Given the description of an element on the screen output the (x, y) to click on. 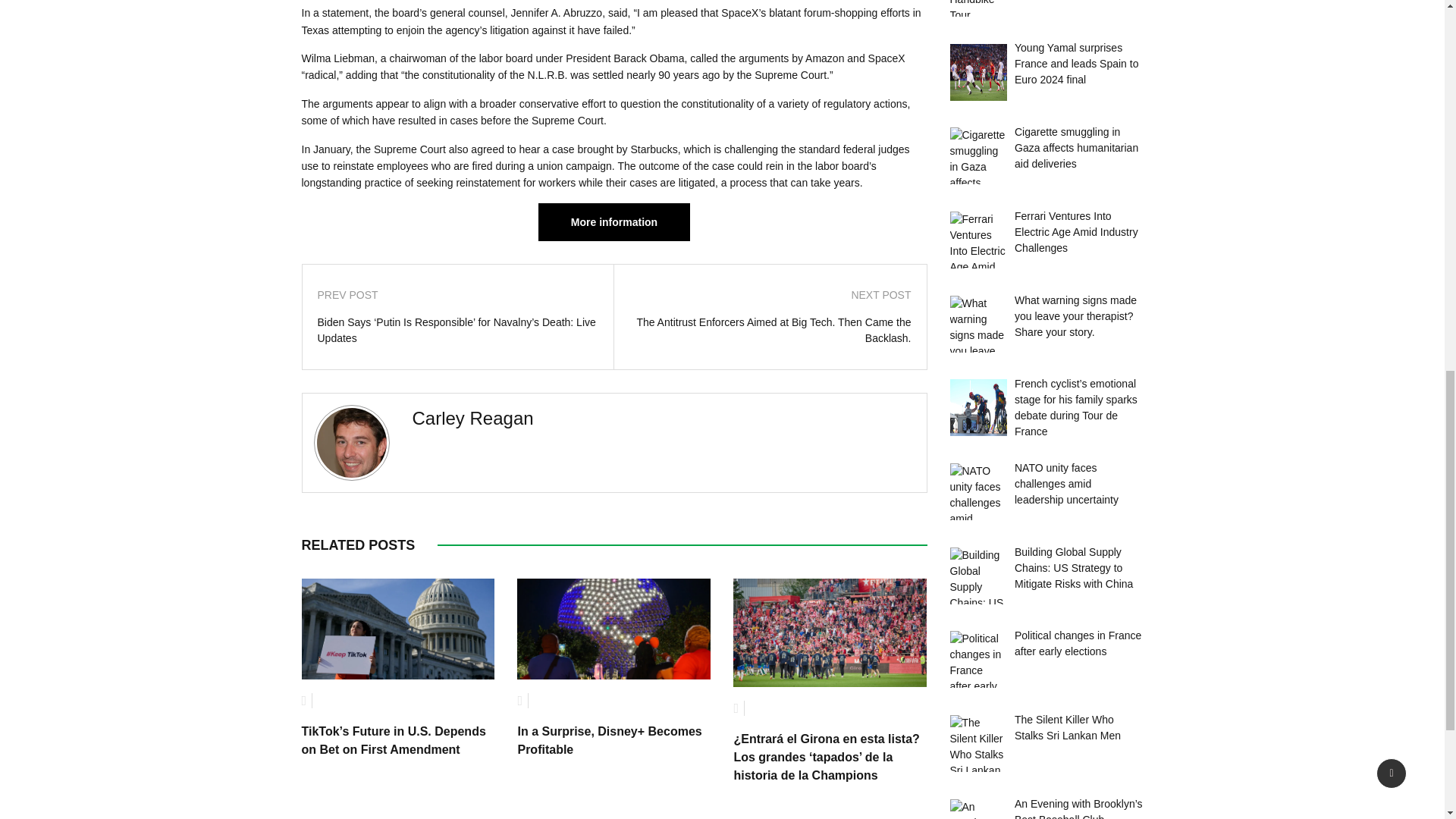
NATO unity faces challenges amid leadership uncertainty (977, 491)
Ferrari Ventures Into Electric Age Amid Industry Challenges (977, 239)
Ferrari Ventures Into Electric Age Amid Industry Challenges (1076, 231)
More information (614, 221)
Political changes in France after early elections (977, 658)
The Santa Fe Handbike Tour (977, 8)
The Silent Killer Who Stalks Sri Lankan Men (1067, 727)
